Given the description of an element on the screen output the (x, y) to click on. 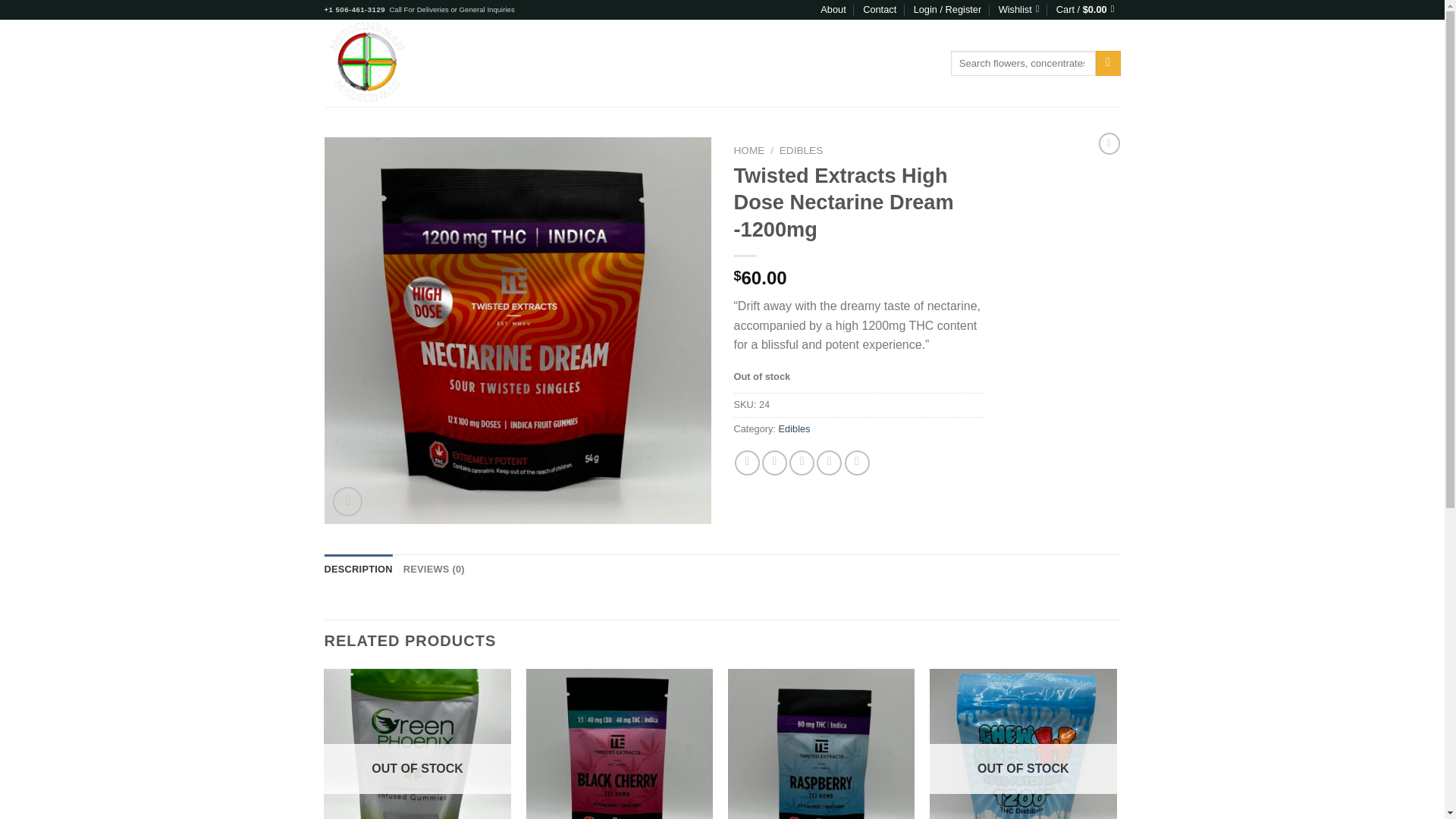
TOBACCO (835, 62)
Wishlist (1018, 9)
About (833, 9)
HOME (749, 150)
EDIBLES (610, 62)
FLOWERS (732, 62)
Share on Twitter (774, 462)
SHOP (488, 62)
EXTRACTS (670, 62)
Edibles (794, 428)
Share on LinkedIn (856, 462)
Cart (1089, 9)
Email to a Friend (801, 462)
VAPES (785, 62)
